Given the description of an element on the screen output the (x, y) to click on. 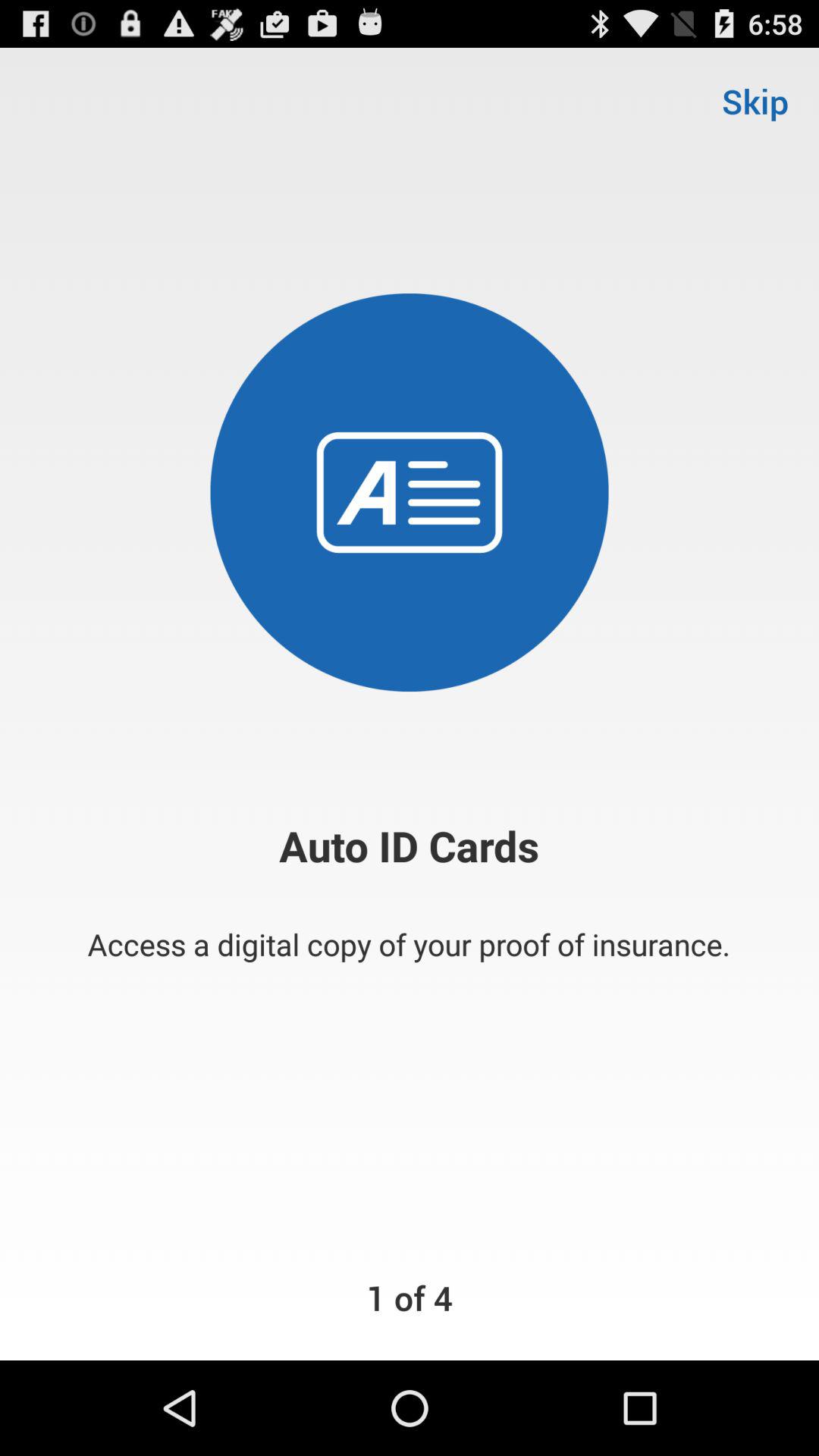
turn off skip at the top right corner (754, 100)
